Given the description of an element on the screen output the (x, y) to click on. 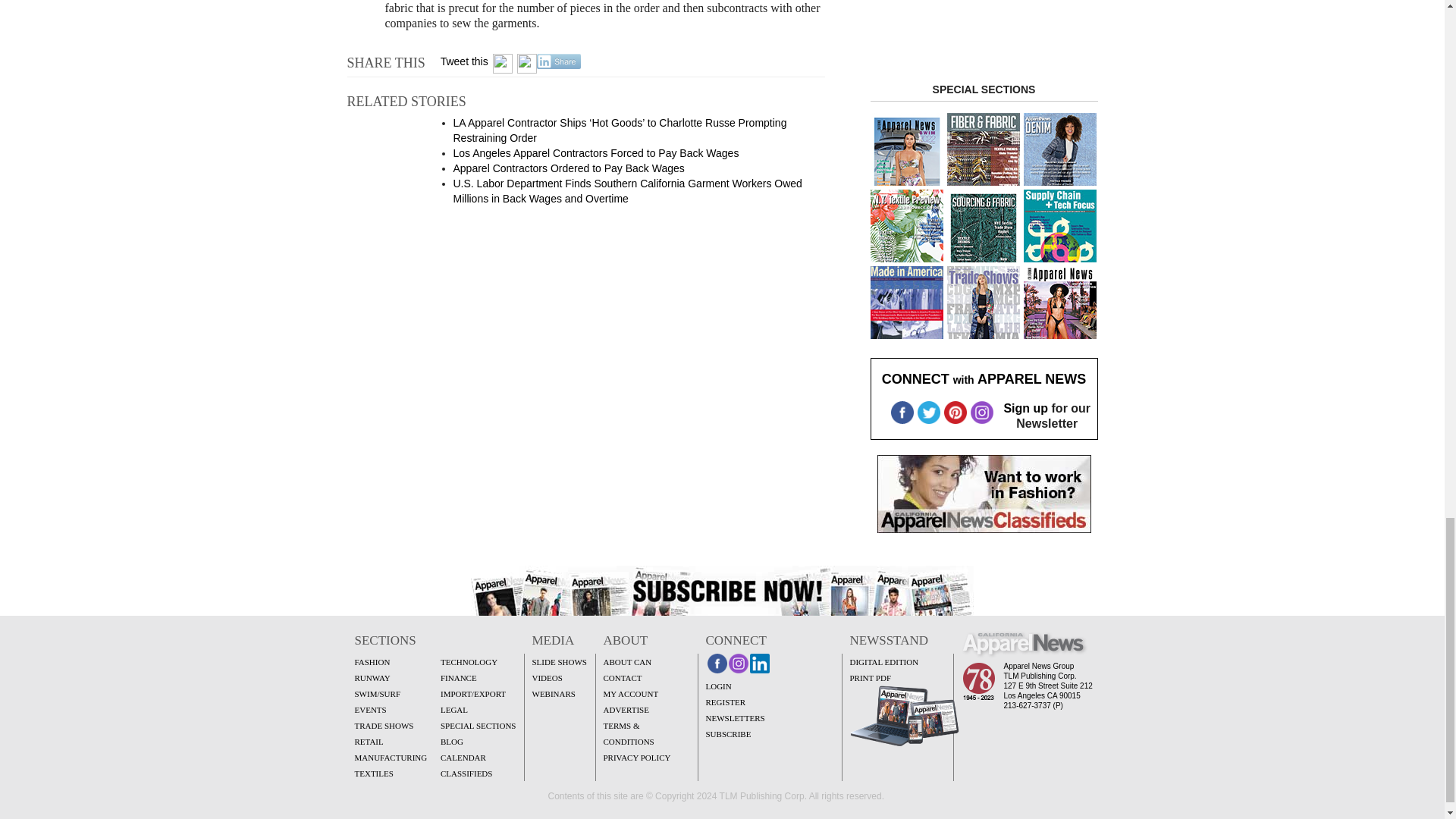
Share (558, 61)
Los Angeles Apparel Contractors Forced to Pay Back Wages (595, 152)
Made in America (906, 302)
Supply Chain (1059, 225)
SWIM (906, 149)
Trade Shows (982, 302)
3rd party ad content (983, 28)
Textile Preview (1059, 149)
Sourcing and Fabric (982, 225)
Tweet this (464, 61)
Apparel Contractors Ordered to Pay Back Wages (568, 168)
Waterwear (1059, 302)
NY Textile Preview (906, 225)
